Given the description of an element on the screen output the (x, y) to click on. 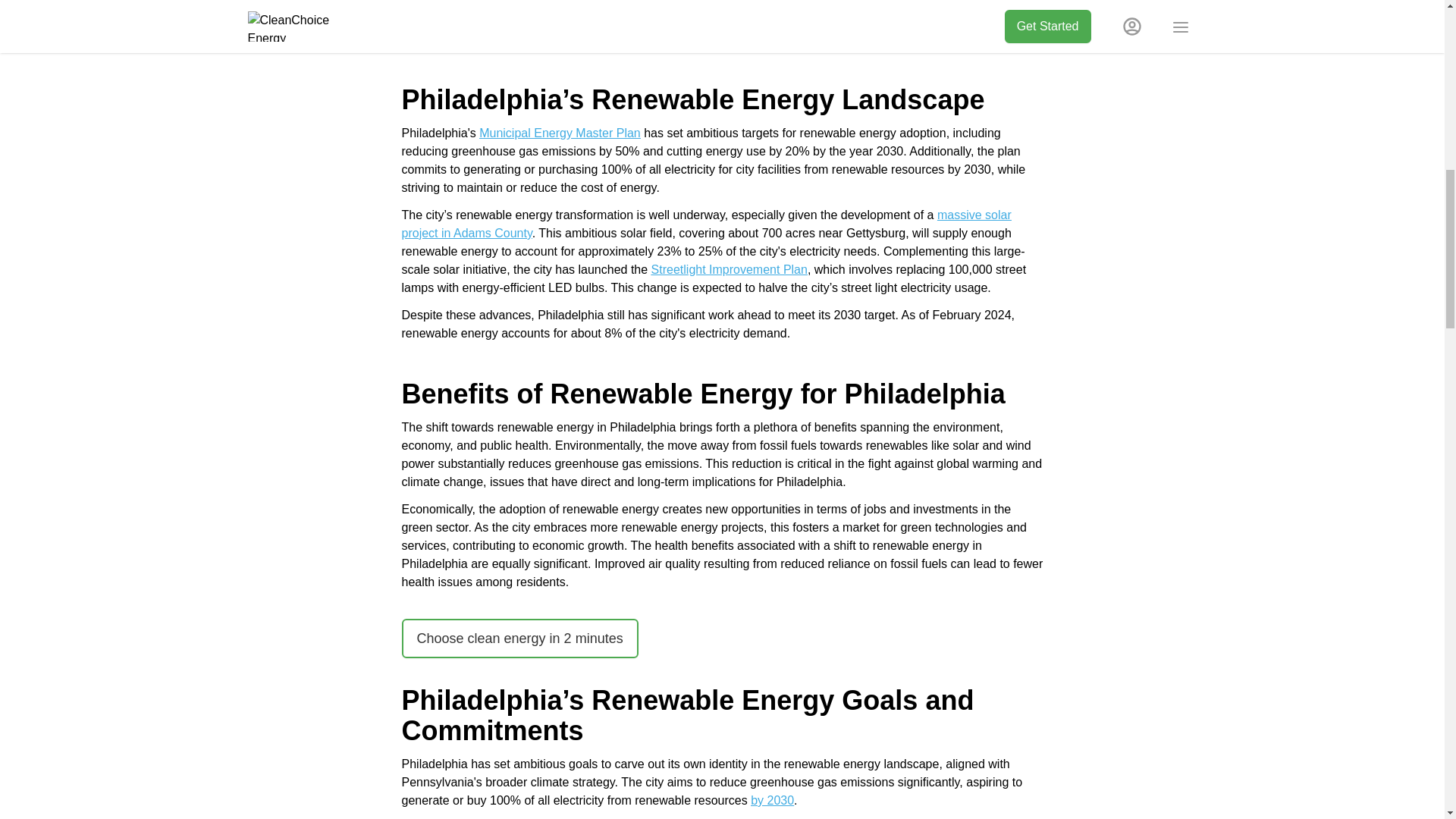
by 2030 (772, 799)
Municipal Energy Master Plan (559, 132)
massive solar project in Adams County (706, 223)
Choose clean energy in 2 minutes (520, 638)
Streetlight Improvement Plan (729, 269)
